Given the description of an element on the screen output the (x, y) to click on. 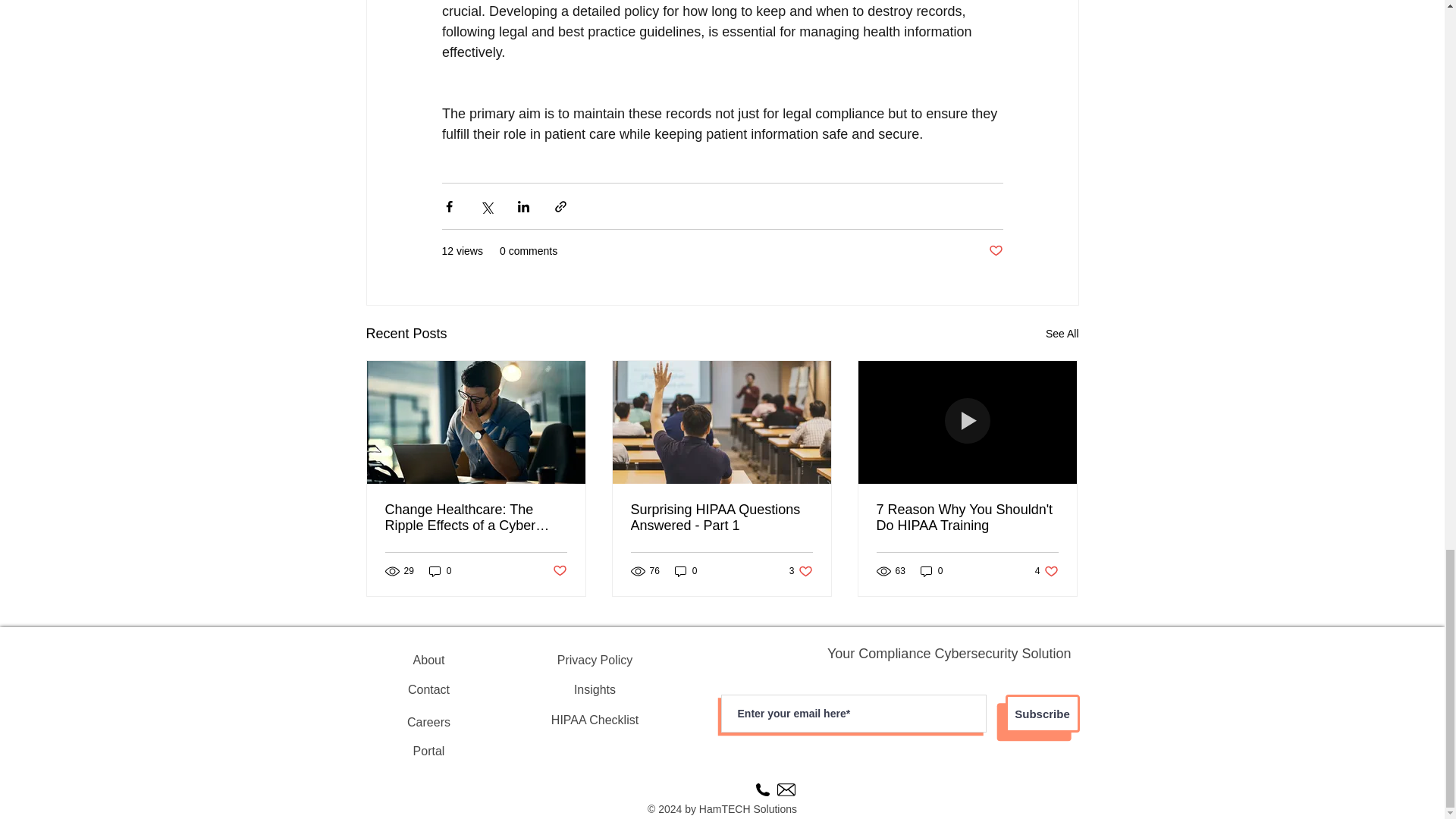
0 (685, 571)
7 Reason Why You Shouldn't Do HIPAA Training (967, 517)
Post not marked as liked (558, 571)
Contact (429, 689)
0 (931, 571)
Change Healthcare: The Ripple Effects of a Cyber Attack (800, 571)
See All (476, 517)
About (1061, 333)
Post not marked as liked (1046, 571)
0 (429, 660)
Careers (995, 251)
Surprising HIPAA Questions Answered - Part 1 (440, 571)
Portal (429, 722)
